Given the description of an element on the screen output the (x, y) to click on. 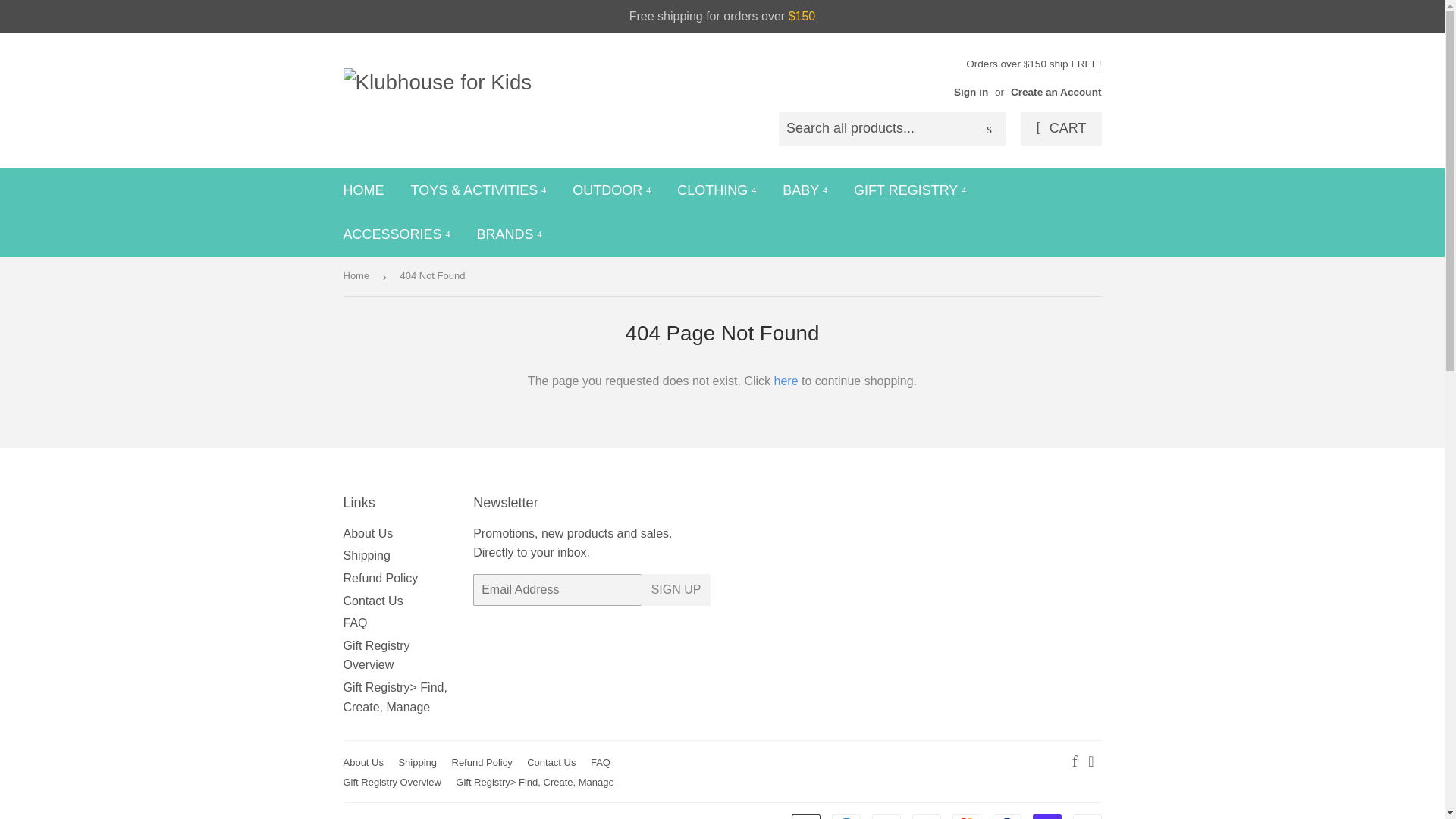
Shop Pay (1046, 816)
Create an Account (1056, 91)
Discover (886, 816)
Google Pay (925, 816)
CART (1060, 128)
Visa (1085, 816)
Search (989, 129)
Apple Pay (806, 816)
PayPal (1005, 816)
Sign in (970, 91)
